Given the description of an element on the screen output the (x, y) to click on. 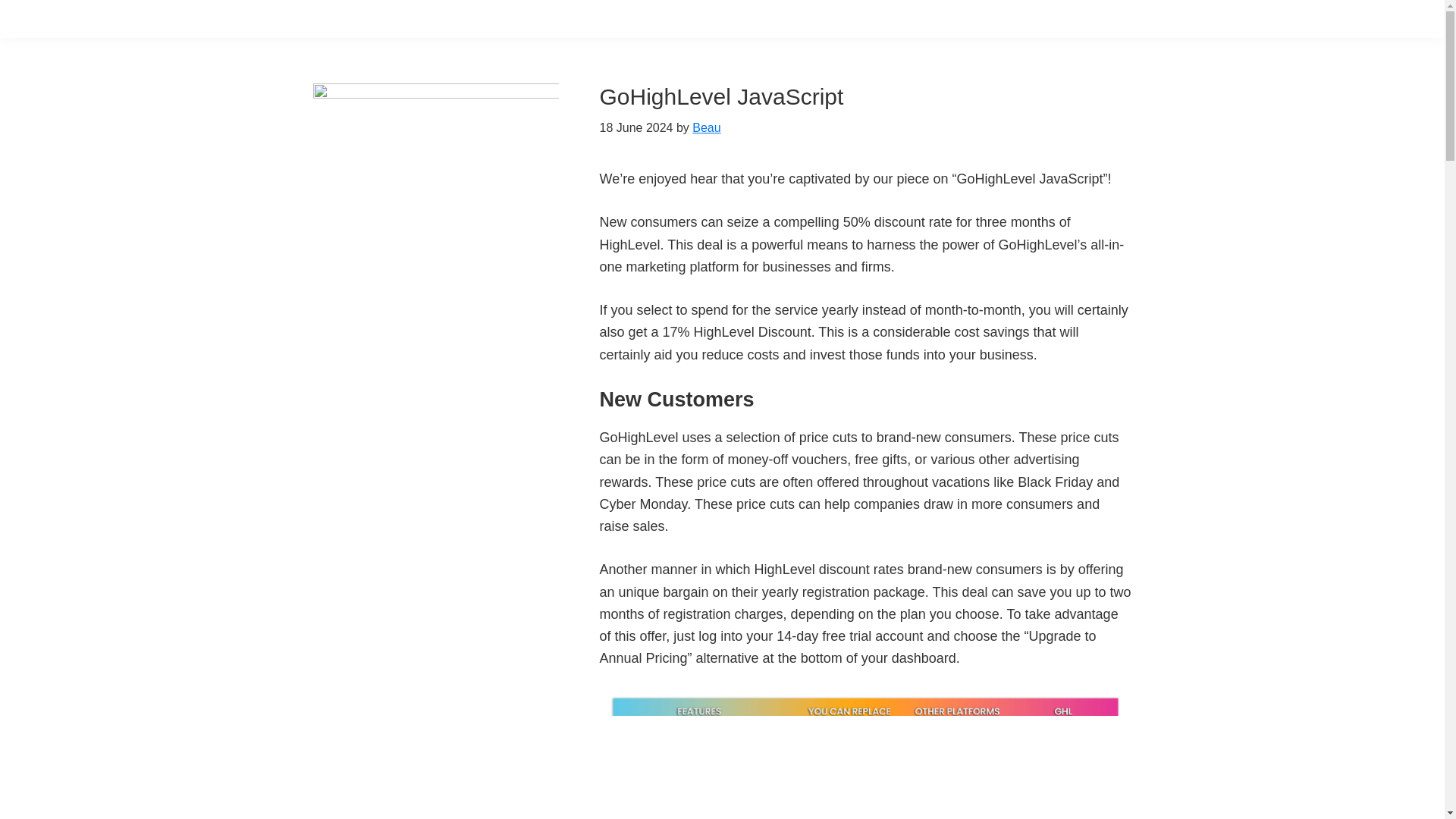
Beau (706, 127)
